Given the description of an element on the screen output the (x, y) to click on. 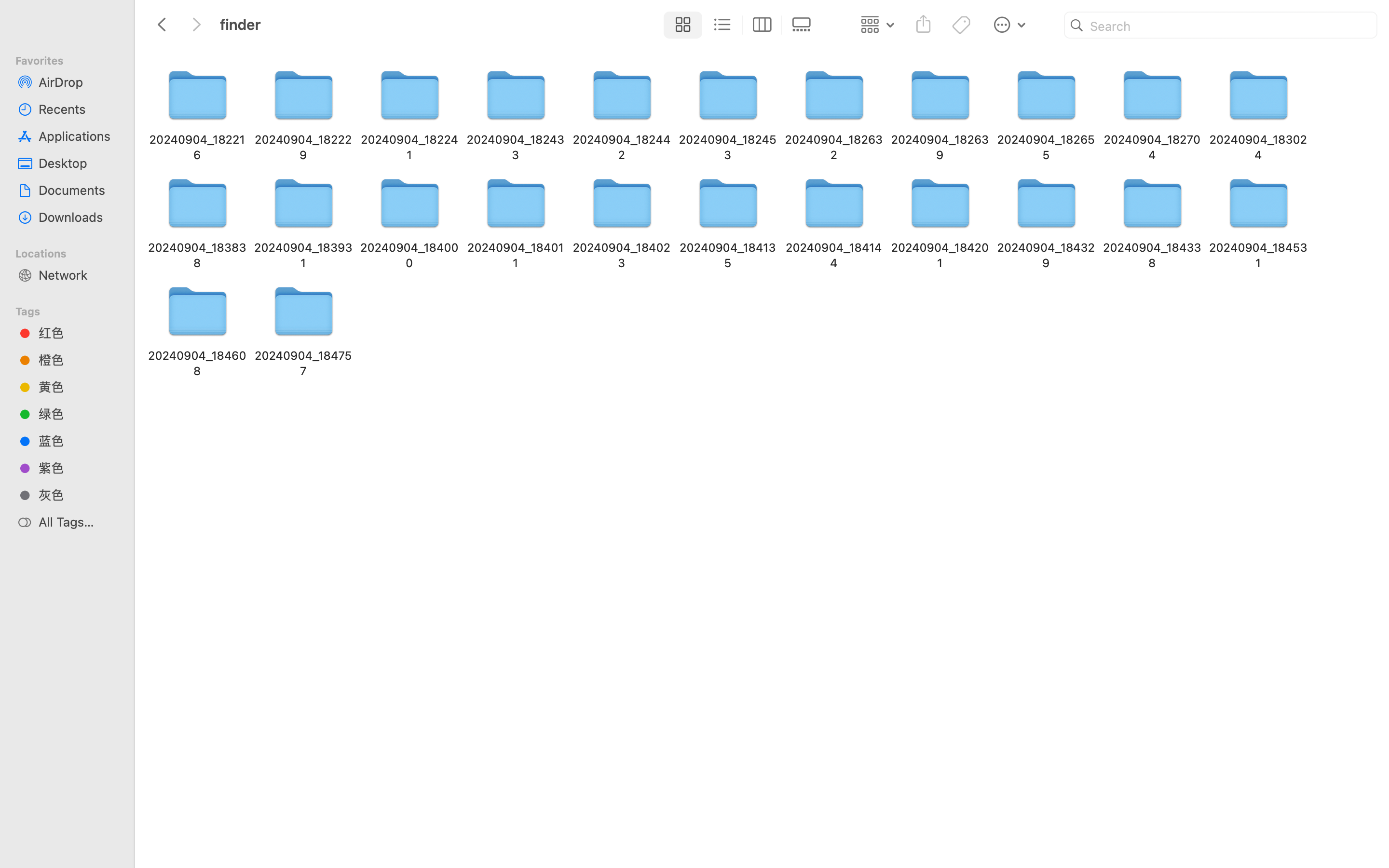
橙色 Element type: AXStaticText (77, 359)
All Tags… Element type: AXStaticText (77, 521)
Desktop Element type: AXStaticText (77, 162)
Recents Element type: AXStaticText (77, 108)
红色 Element type: AXStaticText (77, 332)
